Given the description of an element on the screen output the (x, y) to click on. 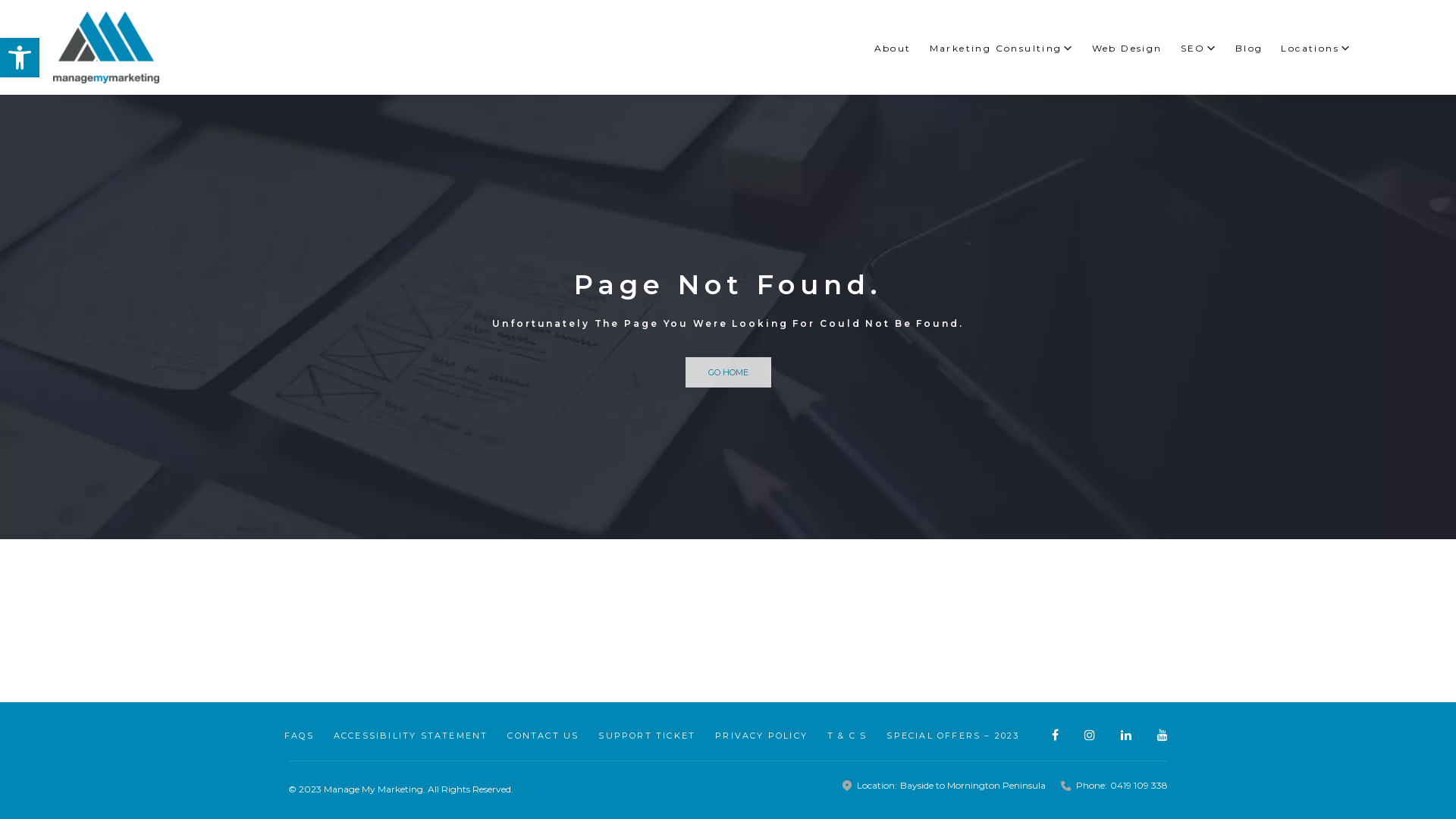
Marketing Consulting Element type: text (1001, 48)
Locations Element type: text (1315, 48)
PRIVACY POLICY Element type: text (761, 735)
CONTACT US Element type: text (542, 735)
0419 109 338 Element type: text (1138, 785)
Facebook Element type: text (1054, 734)
Open toolbar
Accessibility Tools Element type: text (19, 57)
SUPPORT TICKET Element type: text (646, 735)
Instagram Element type: text (1089, 734)
Web Design Element type: text (1127, 48)
About Element type: text (892, 48)
GO HOME Element type: text (728, 372)
Linkedin Element type: text (1125, 734)
FAQS Element type: text (298, 735)
ACCESSIBILITY STATEMENT Element type: text (410, 735)
SEO Element type: text (1198, 48)
Blog Element type: text (1249, 48)
T & C S Element type: text (846, 735)
Youtube Element type: text (1162, 734)
